Given the description of an element on the screen output the (x, y) to click on. 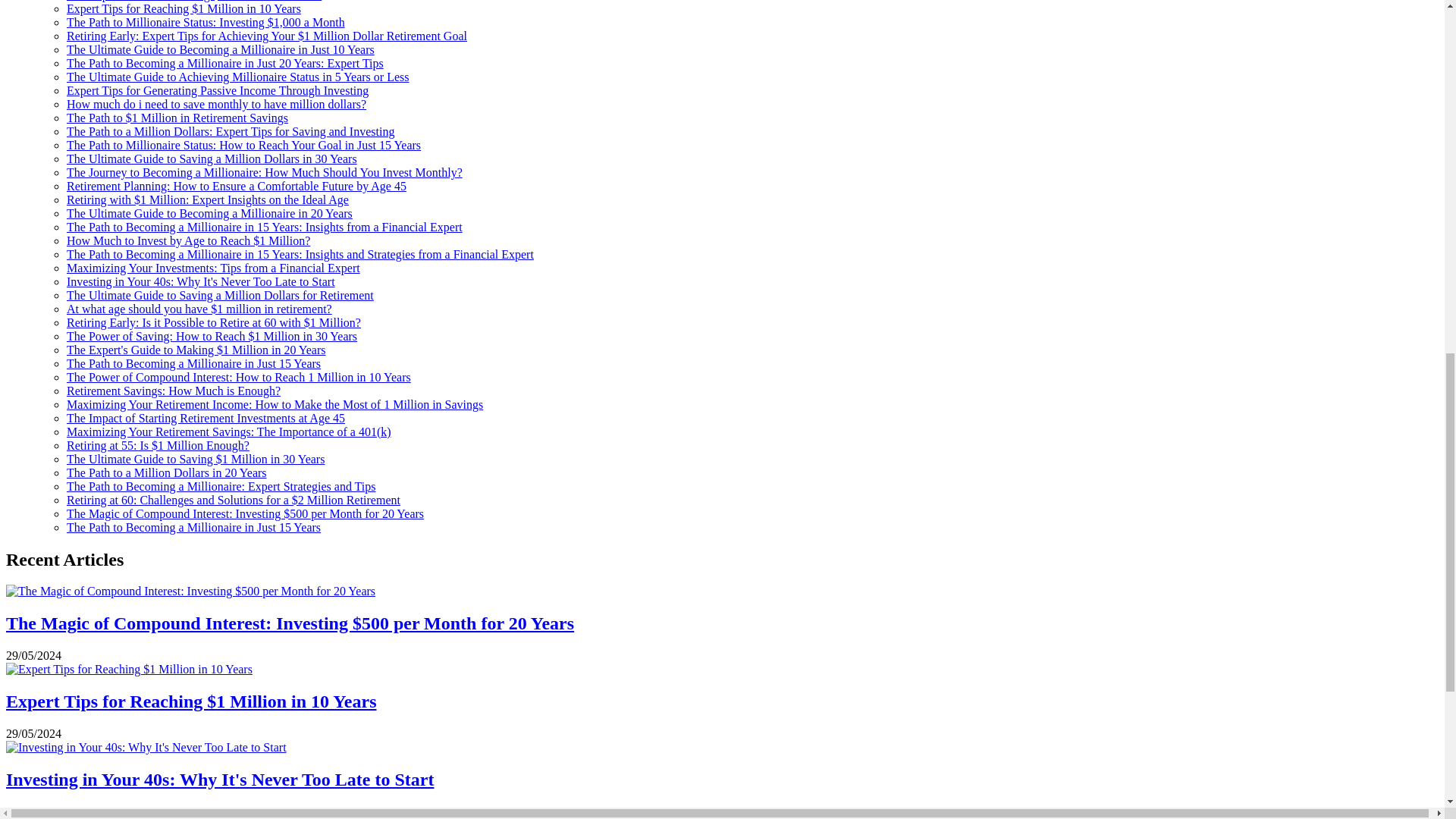
The Ultimate Guide to Saving a Million Dollars in 30 Years (211, 158)
The Path to Becoming a Millionaire in Just 15 Years (193, 363)
Retirement Savings: How Much is Enough? (173, 390)
How much do i need to save monthly to have million dollars? (216, 103)
Expert Tips for Generating Passive Income Through Investing (217, 90)
The Ultimate Guide to Becoming a Millionaire in 20 Years (209, 213)
Investing in Your 40s: Why It's Never Too Late to Start (200, 281)
